Given the description of an element on the screen output the (x, y) to click on. 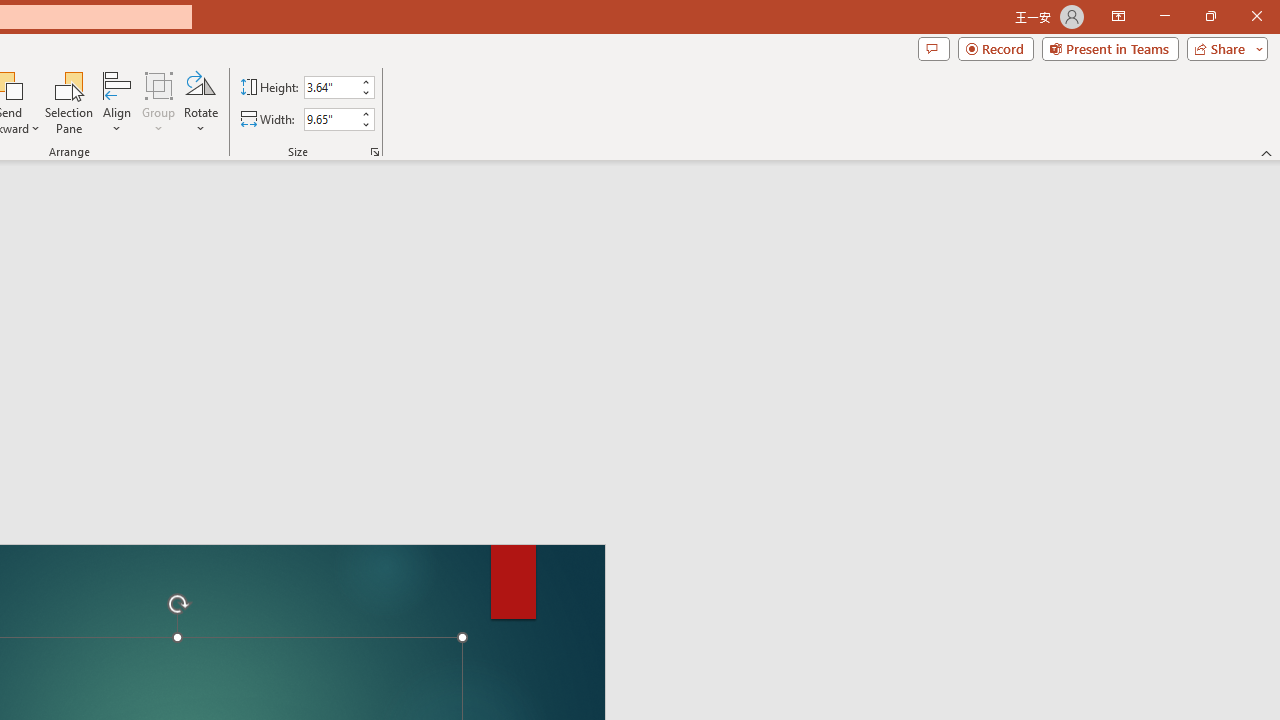
Selection Pane... (69, 102)
Less (365, 124)
